Given the description of an element on the screen output the (x, y) to click on. 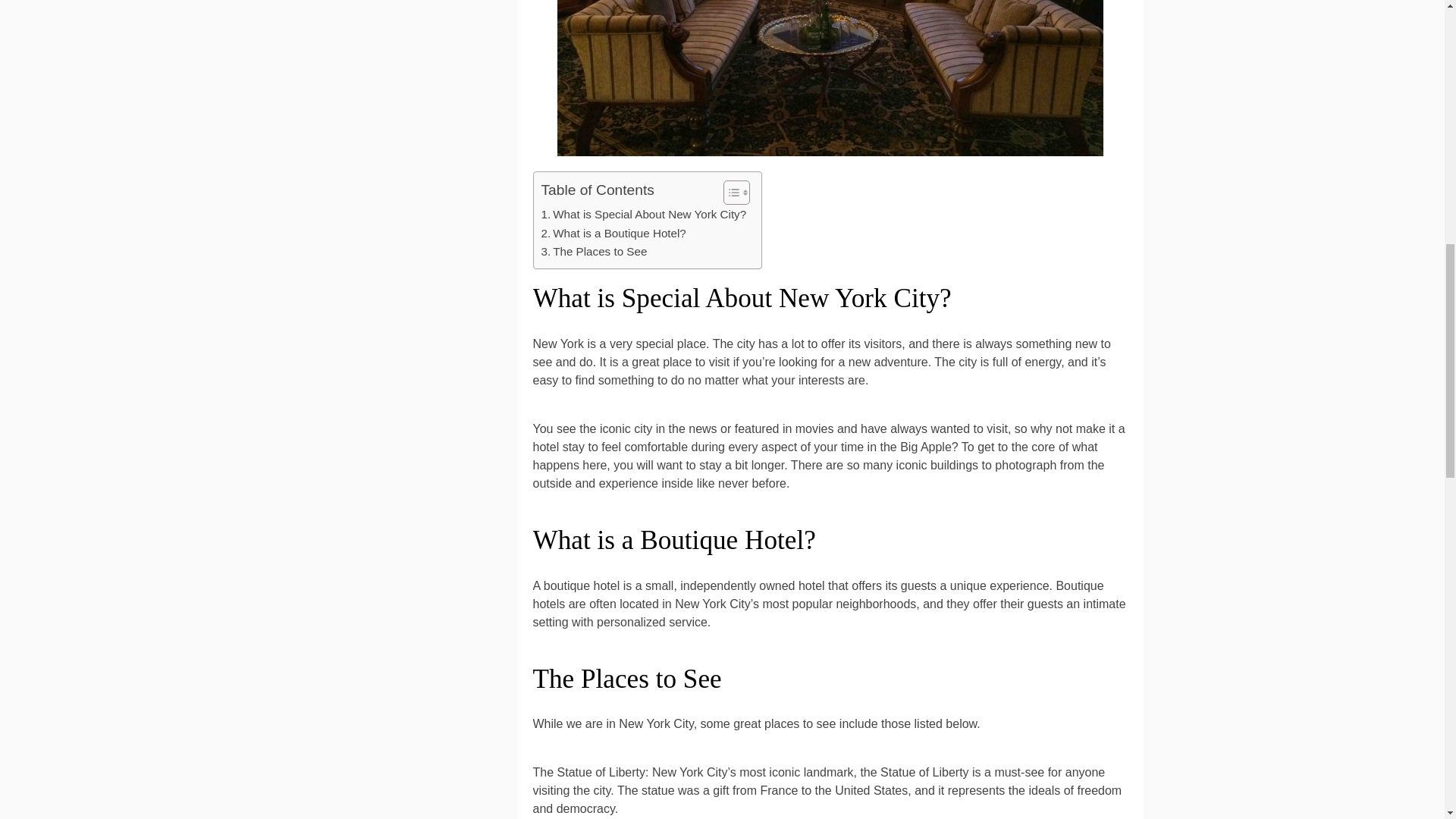
What is Special About New York City? (643, 214)
The Places to See (594, 251)
The Places to See (594, 251)
What is a Boutique Hotel? (613, 233)
What is a Boutique Hotel? (613, 233)
What is Special About New York City? (643, 214)
